Given the description of an element on the screen output the (x, y) to click on. 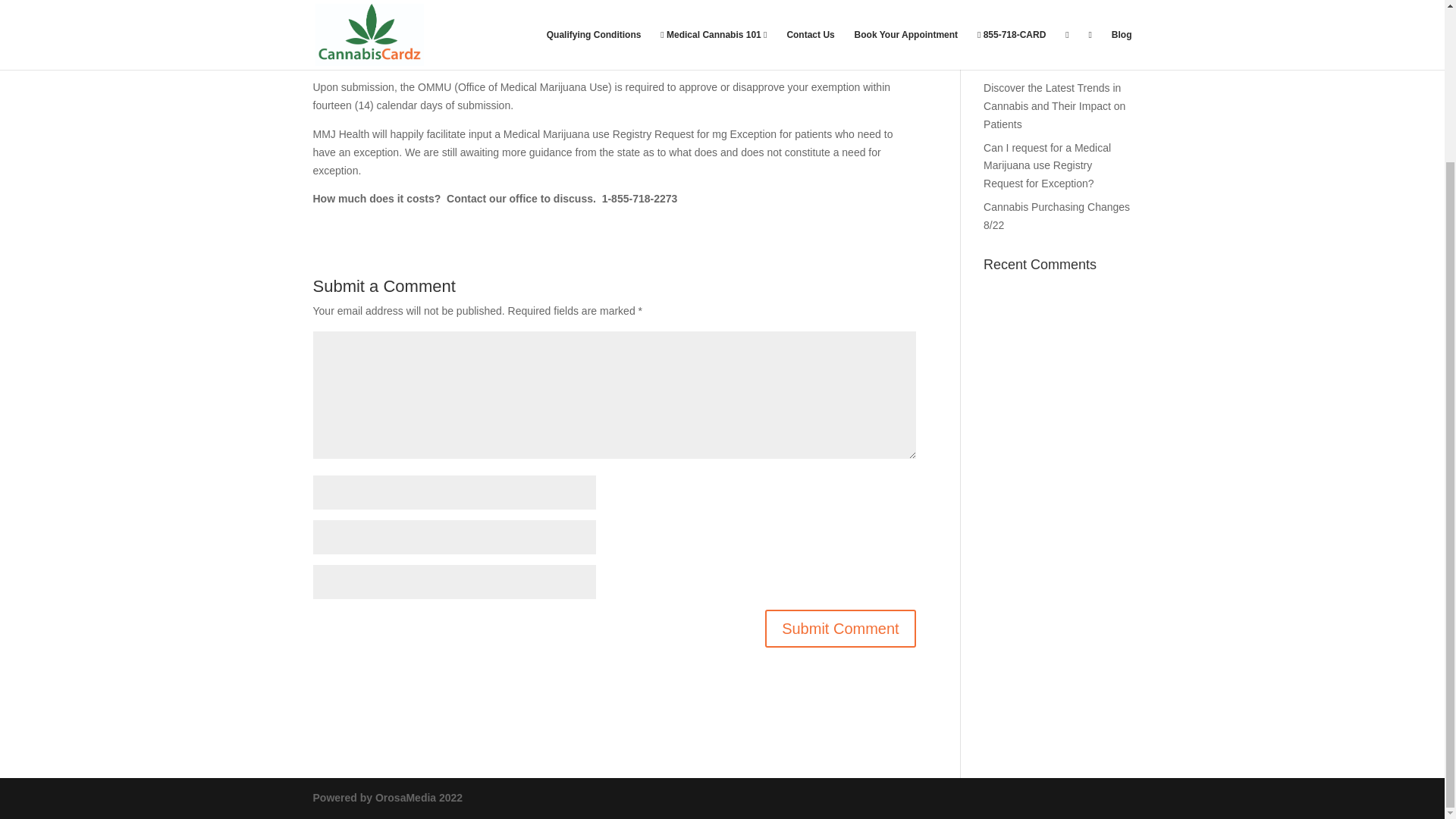
Submit Comment (840, 628)
Submit Comment (840, 628)
Microdosing: a simple approach to medical cannabis (1054, 14)
Cannabis in the United States: A 2023 Overview (1055, 55)
